Given the description of an element on the screen output the (x, y) to click on. 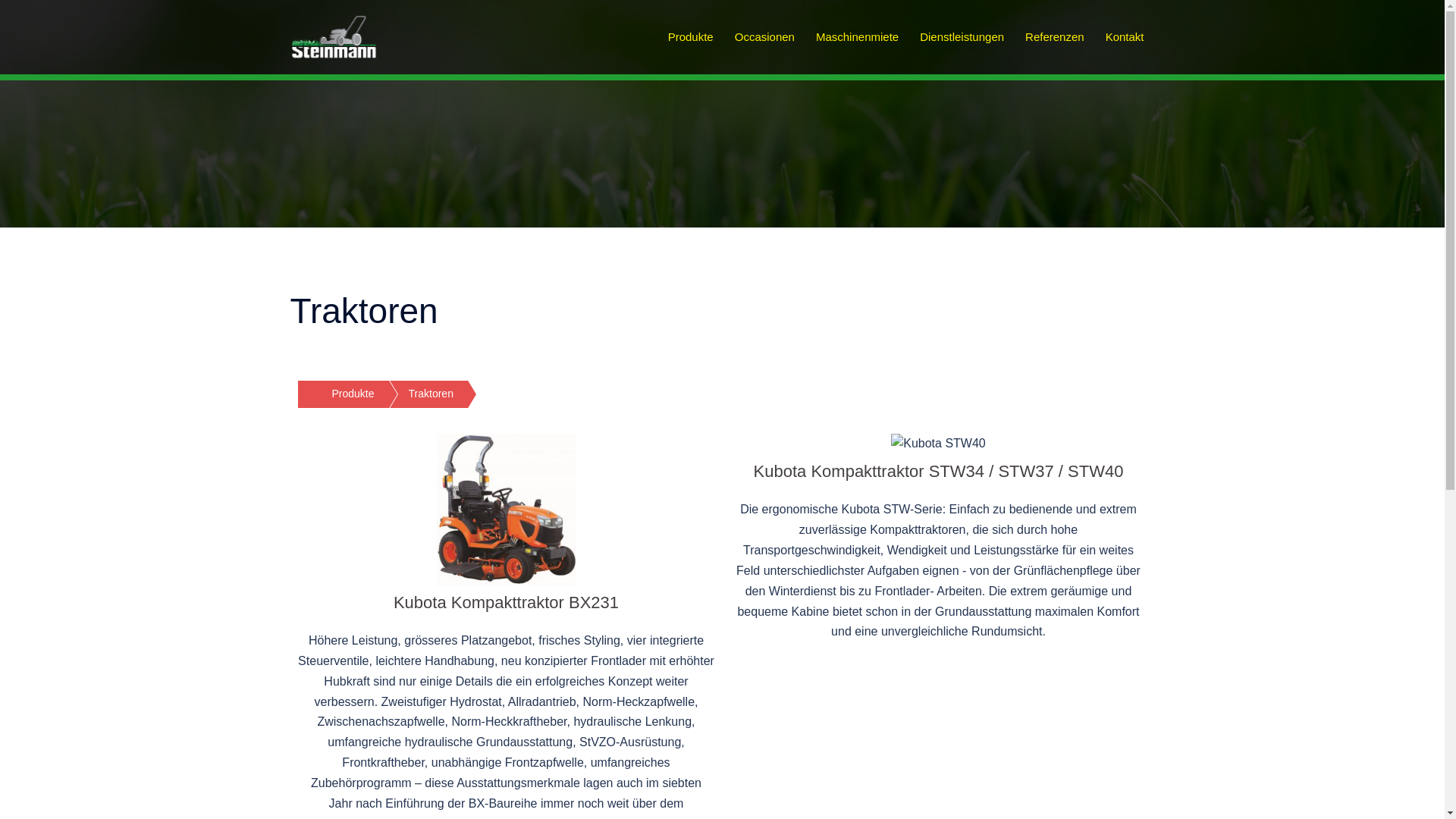
Traktoren Element type: text (413, 393)
Beda Steinmann Element type: hover (332, 35)
Referenzen Element type: text (1054, 36)
Occasionen Element type: text (764, 36)
Produkte Element type: text (335, 393)
Kubota_Kompakttraktor_BX231 Element type: hover (506, 509)
Dienstleistungen Element type: text (961, 36)
Kontakt Element type: text (1124, 36)
Maschinenmiete Element type: text (856, 36)
Produkte Element type: text (690, 36)
